Given the description of an element on the screen output the (x, y) to click on. 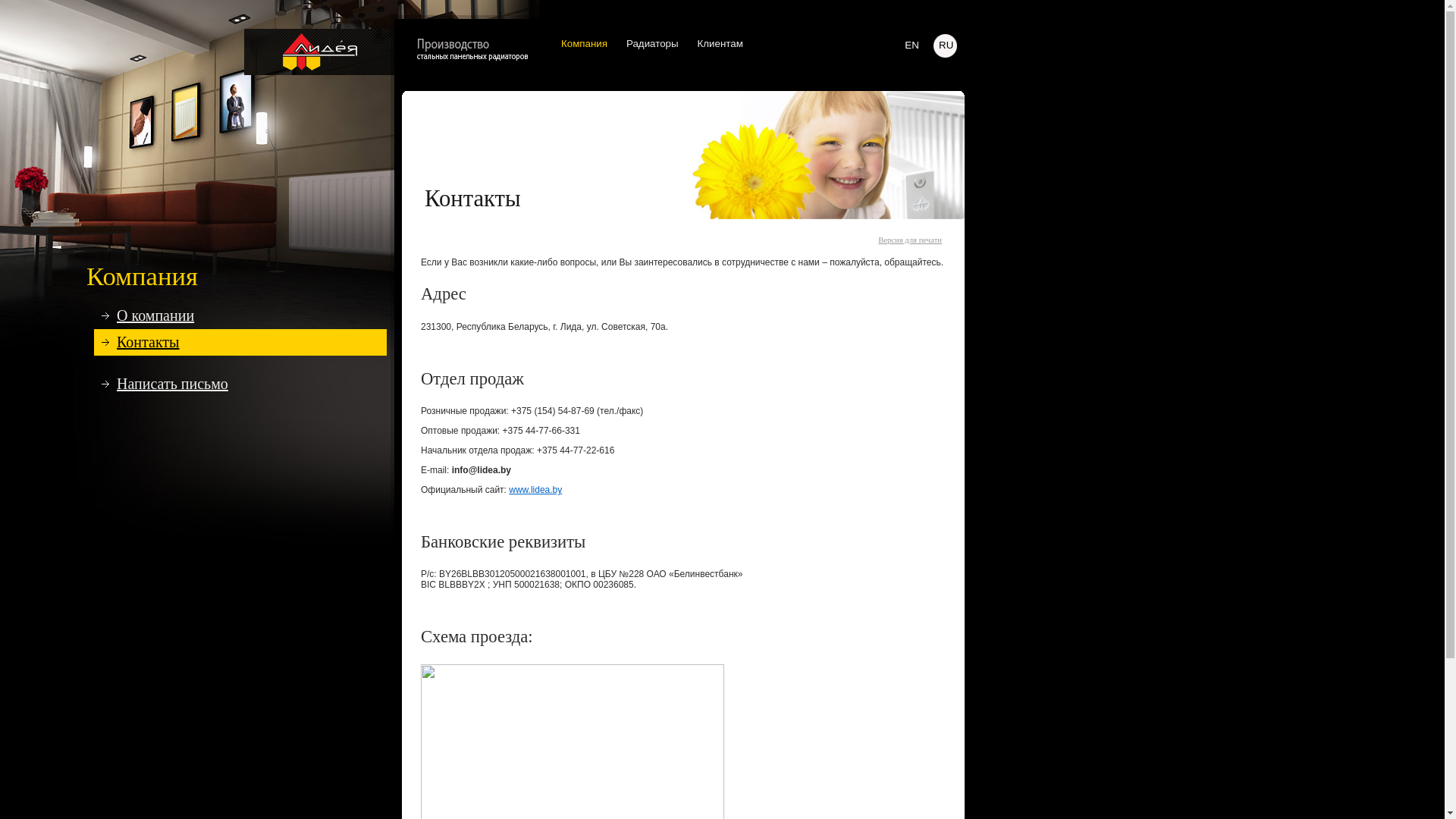
EN Element type: text (910, 45)
www.lidea.by Element type: text (534, 489)
